Given the description of an element on the screen output the (x, y) to click on. 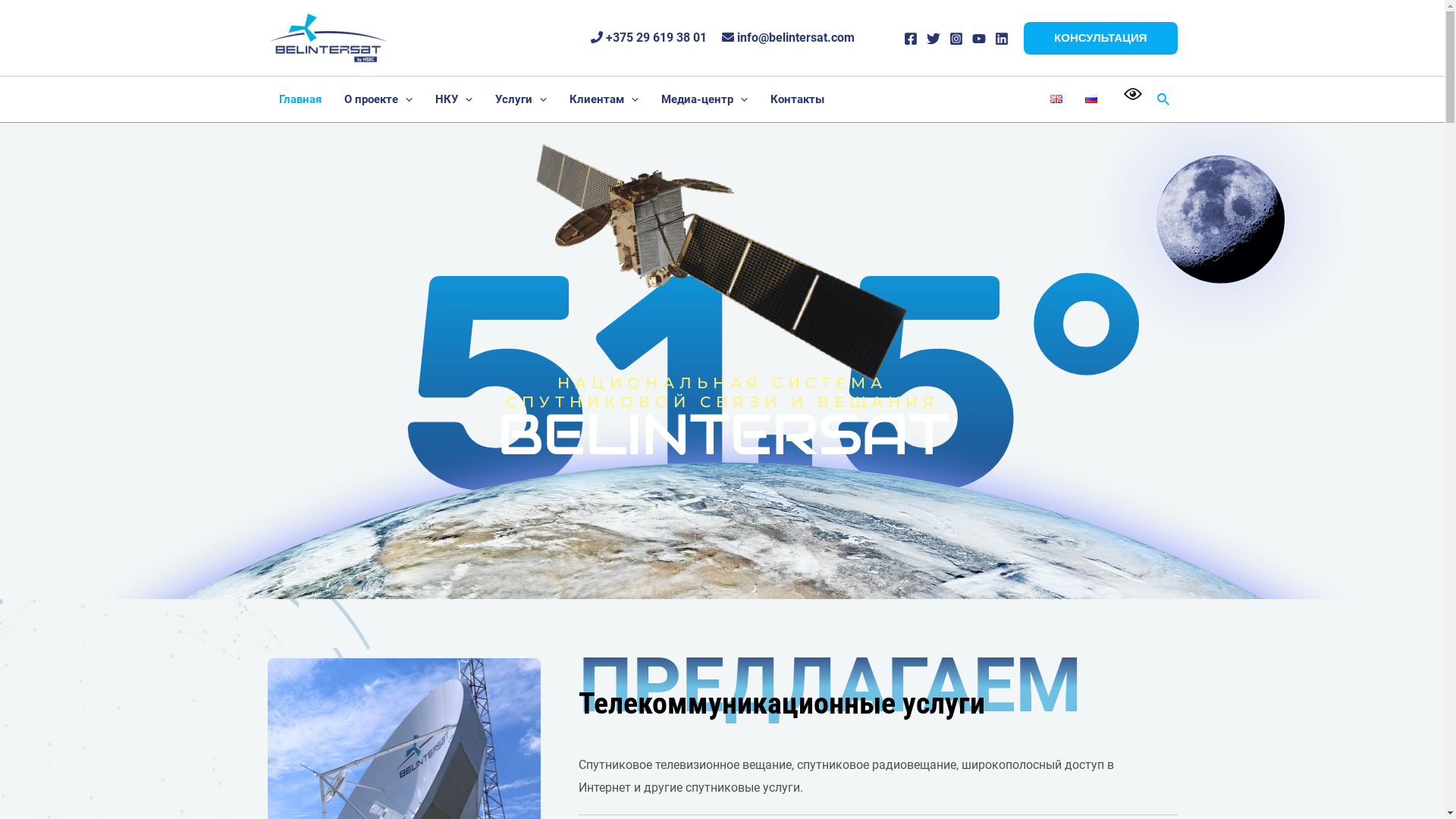
info@belintersat.com Element type: text (787, 37)
+375 29 619 38 01 Element type: text (647, 37)
